Given the description of an element on the screen output the (x, y) to click on. 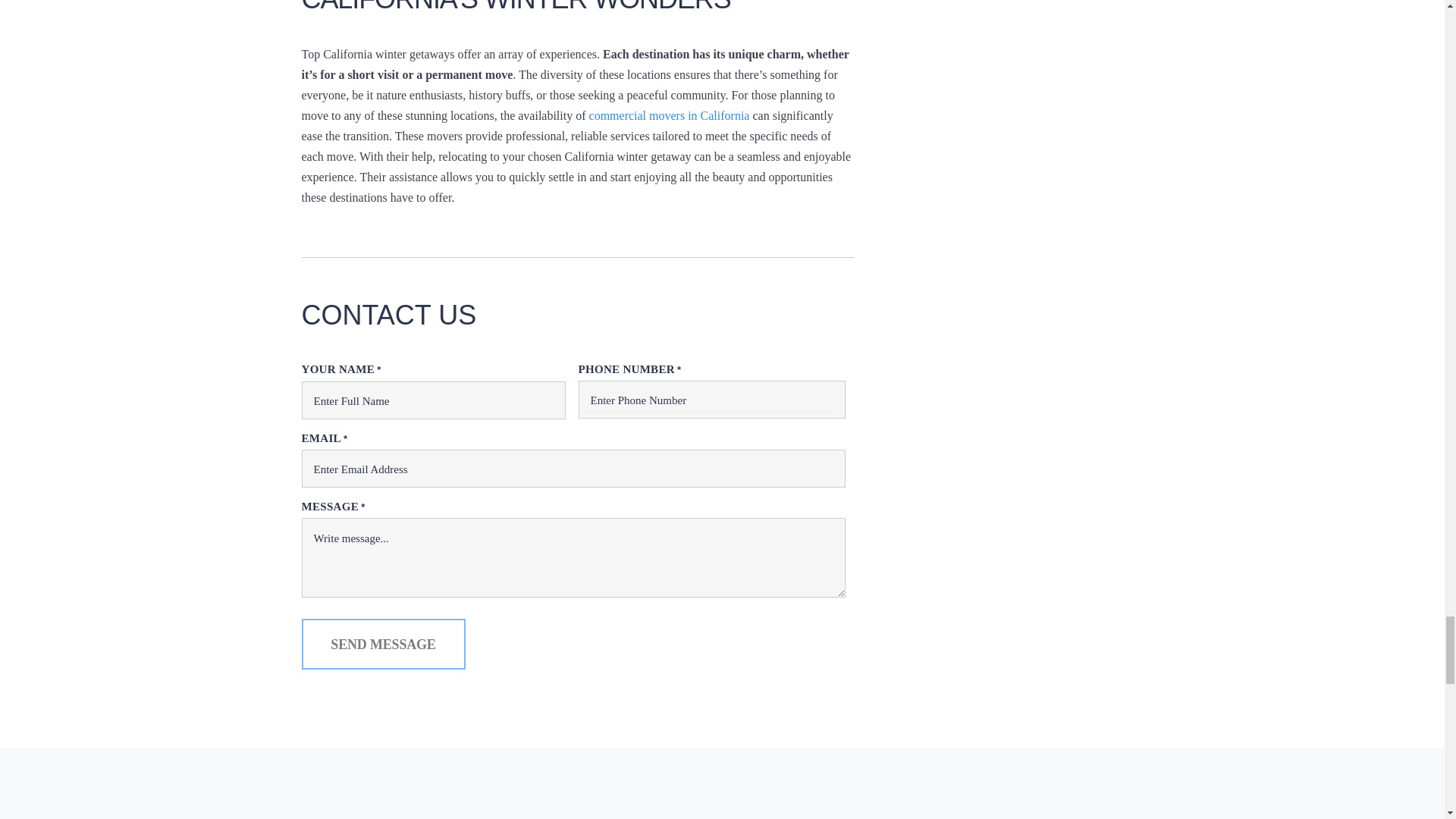
Send Message (383, 644)
